Given the description of an element on the screen output the (x, y) to click on. 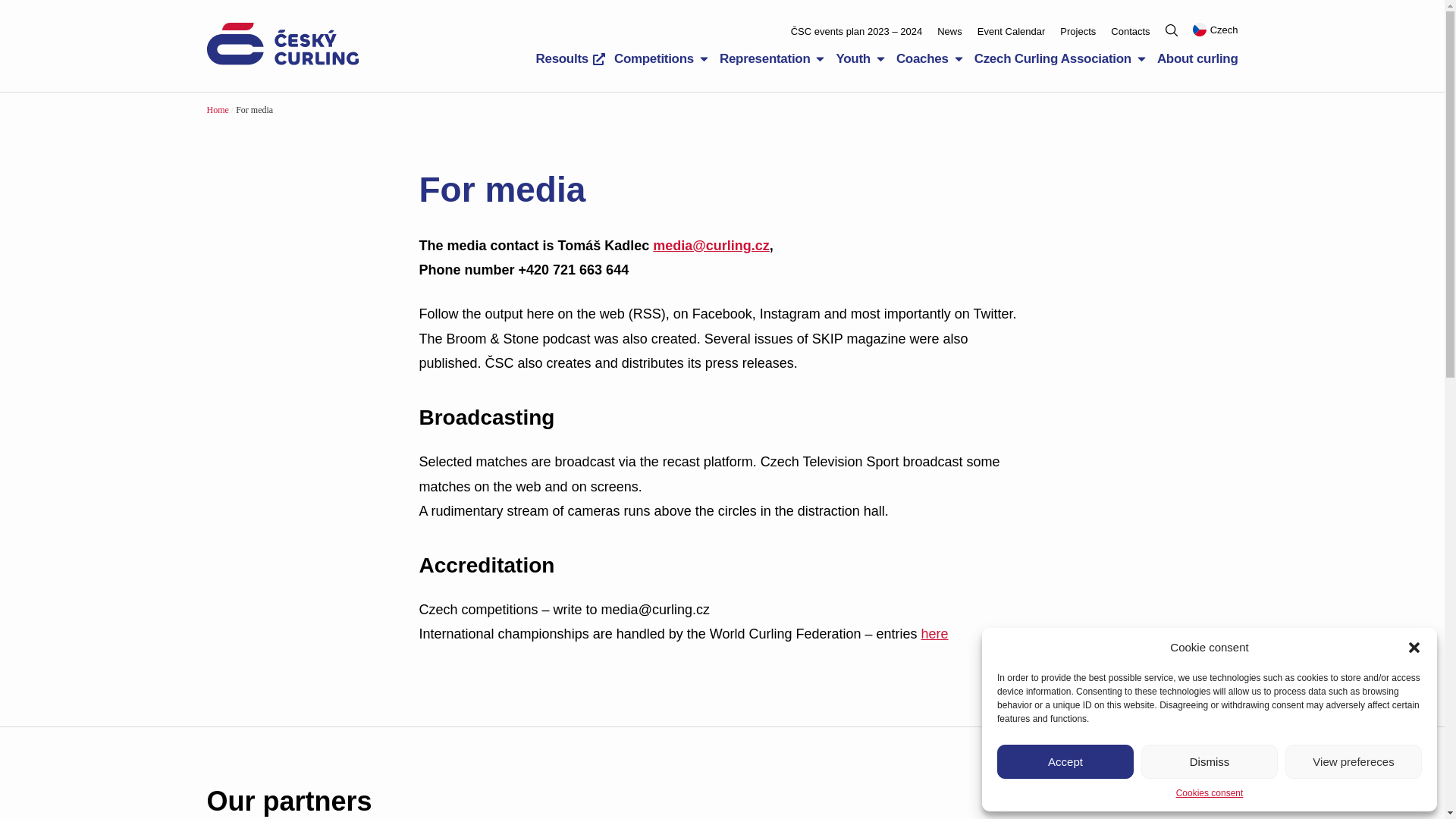
Youth (852, 58)
News (949, 31)
Contacts (1130, 31)
Representation (764, 58)
Event Calendar (1010, 31)
Cookies consent (1209, 793)
Accept (1065, 761)
Czech (1215, 29)
Competitions (654, 58)
View prefereces (1353, 761)
Dismiss (1209, 761)
Resoults (561, 58)
Projects (1077, 31)
Coaches (922, 58)
